Given the description of an element on the screen output the (x, y) to click on. 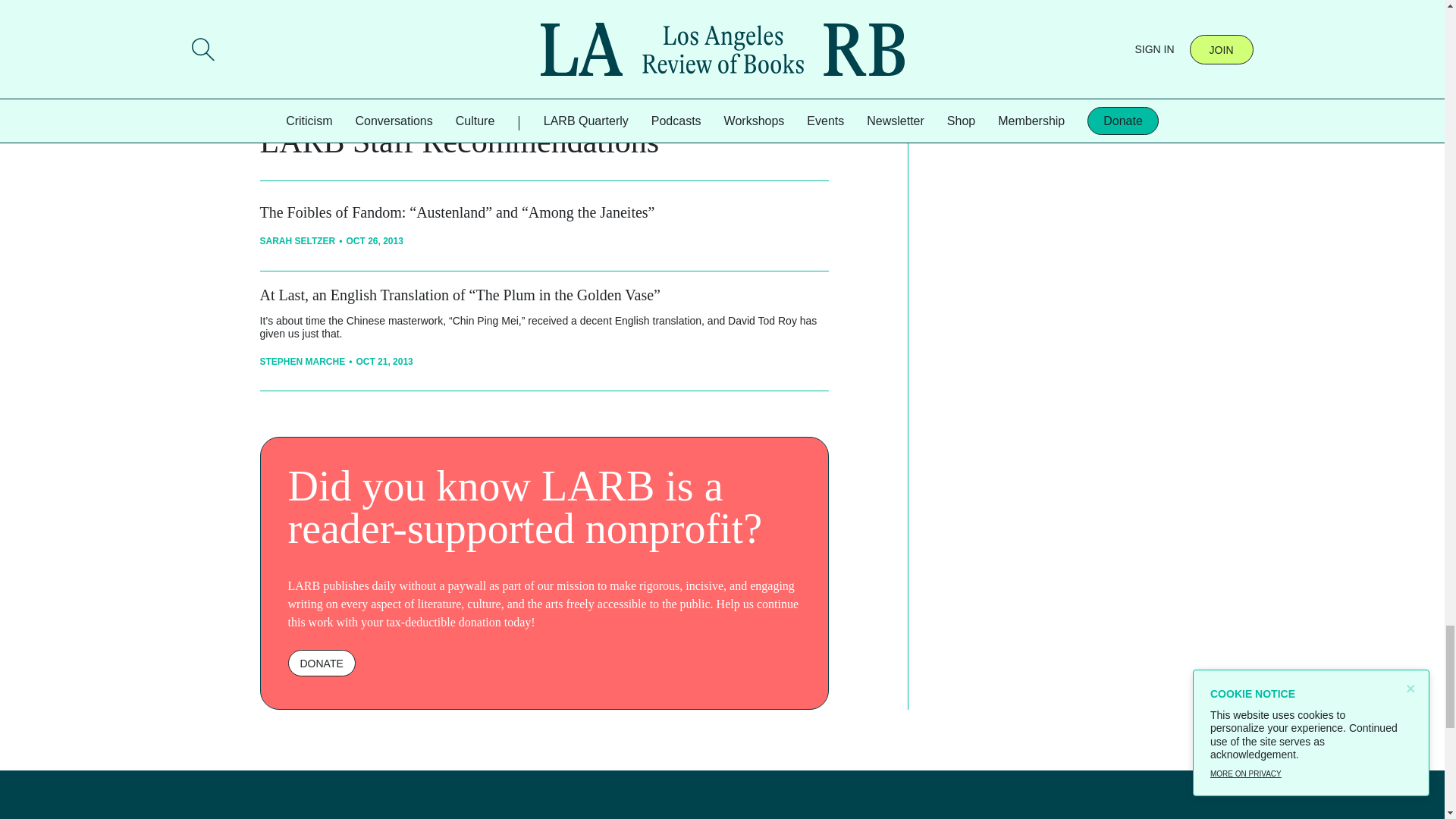
Share on twitter (486, 62)
SARAH SELTZER (296, 240)
COPY LINK TO ARTICLE (370, 63)
STEPHEN MARCHE (302, 361)
DONATE (321, 663)
Share on facebook (456, 62)
